Given the description of an element on the screen output the (x, y) to click on. 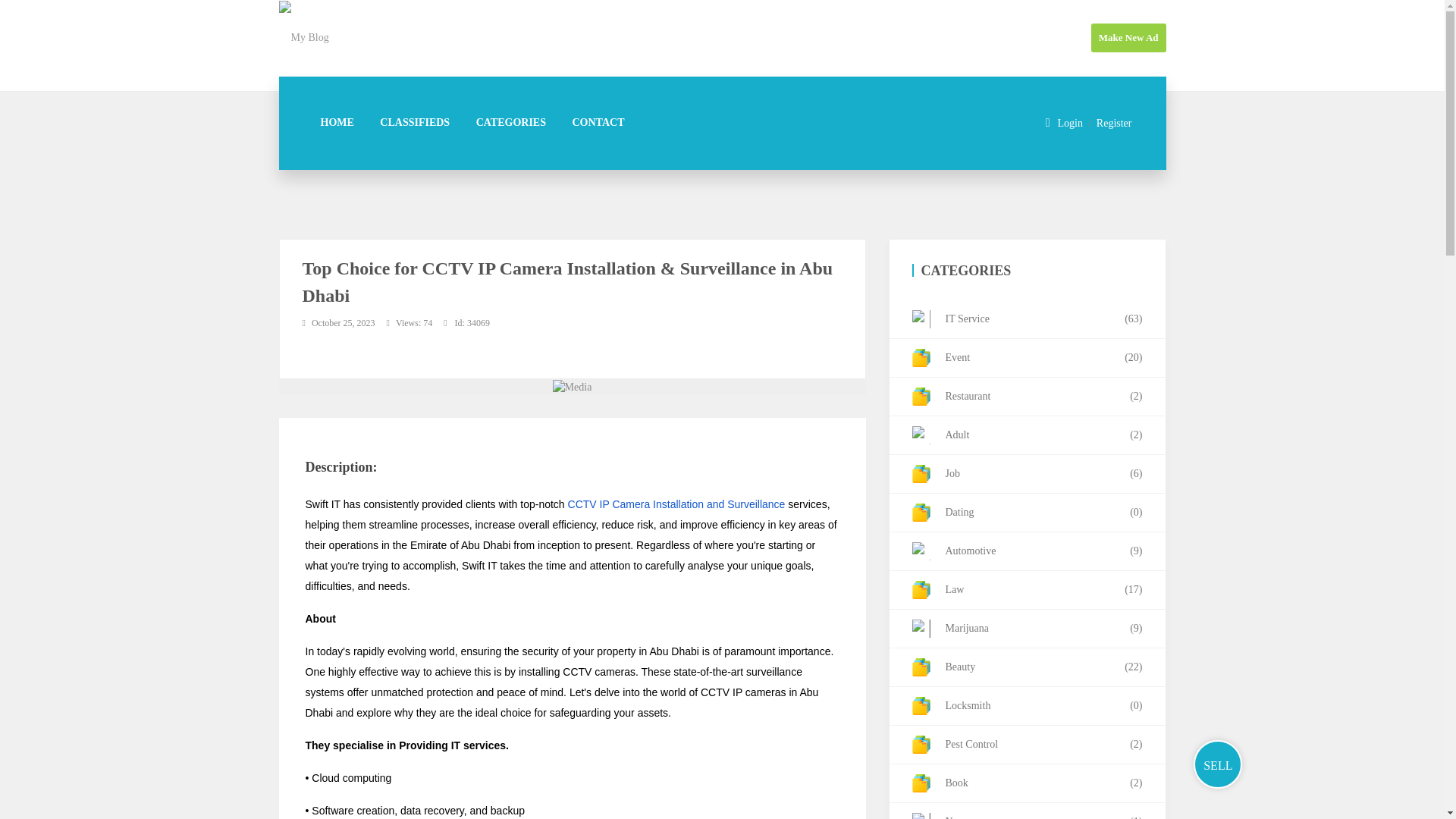
Adult (1026, 435)
CCTV IP Camera Installation and Surveillance (676, 504)
Make New Ad (1128, 37)
IT Service (1026, 319)
My Blog (304, 36)
images (572, 387)
CLASSIFIEDS (414, 122)
CATEGORIES (510, 122)
Event (1026, 358)
Restaurant (1026, 396)
Job (1026, 474)
